Given the description of an element on the screen output the (x, y) to click on. 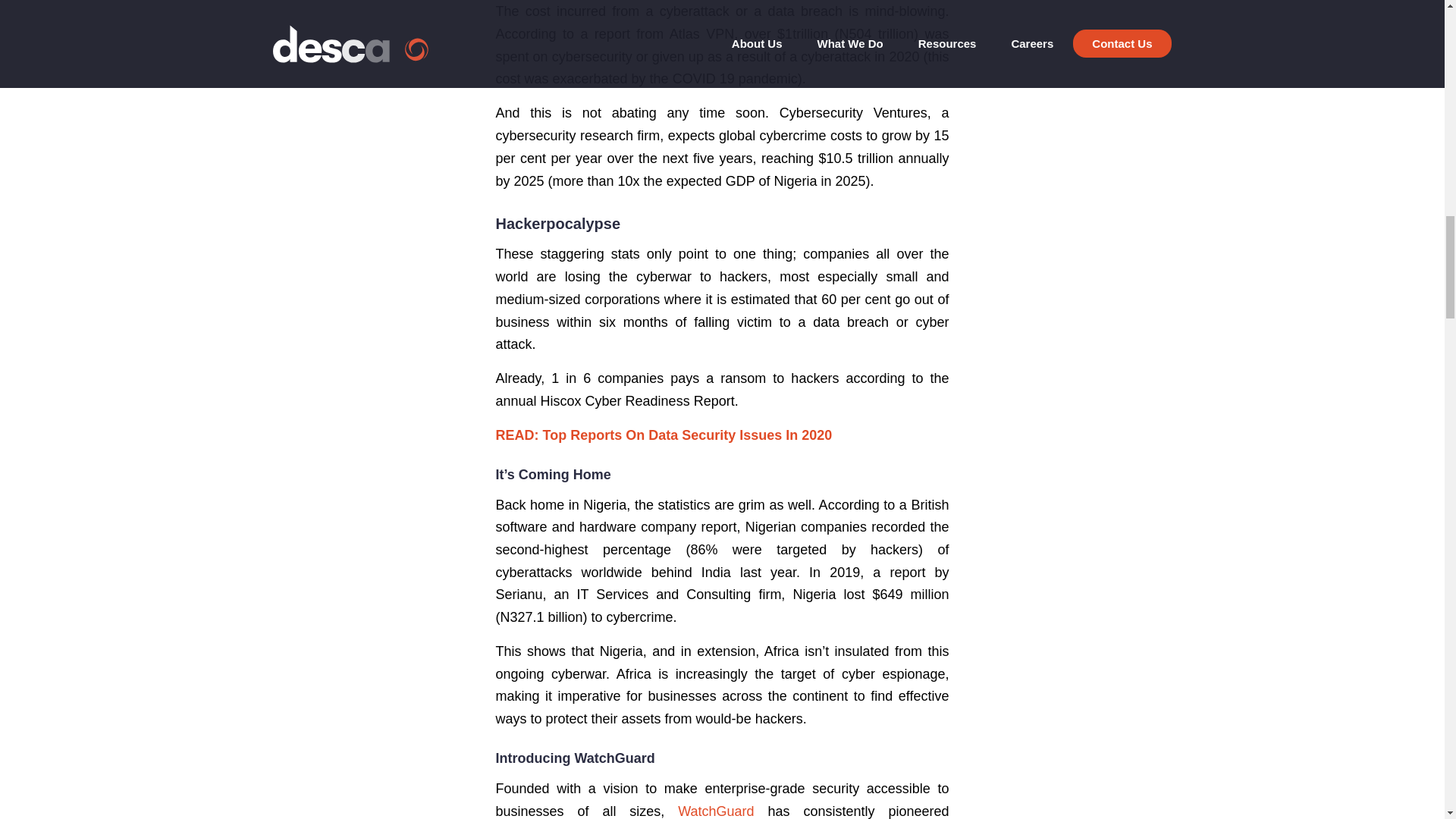
READ: Top Reports On Data Security Issues In 2020 (664, 435)
